Given the description of an element on the screen output the (x, y) to click on. 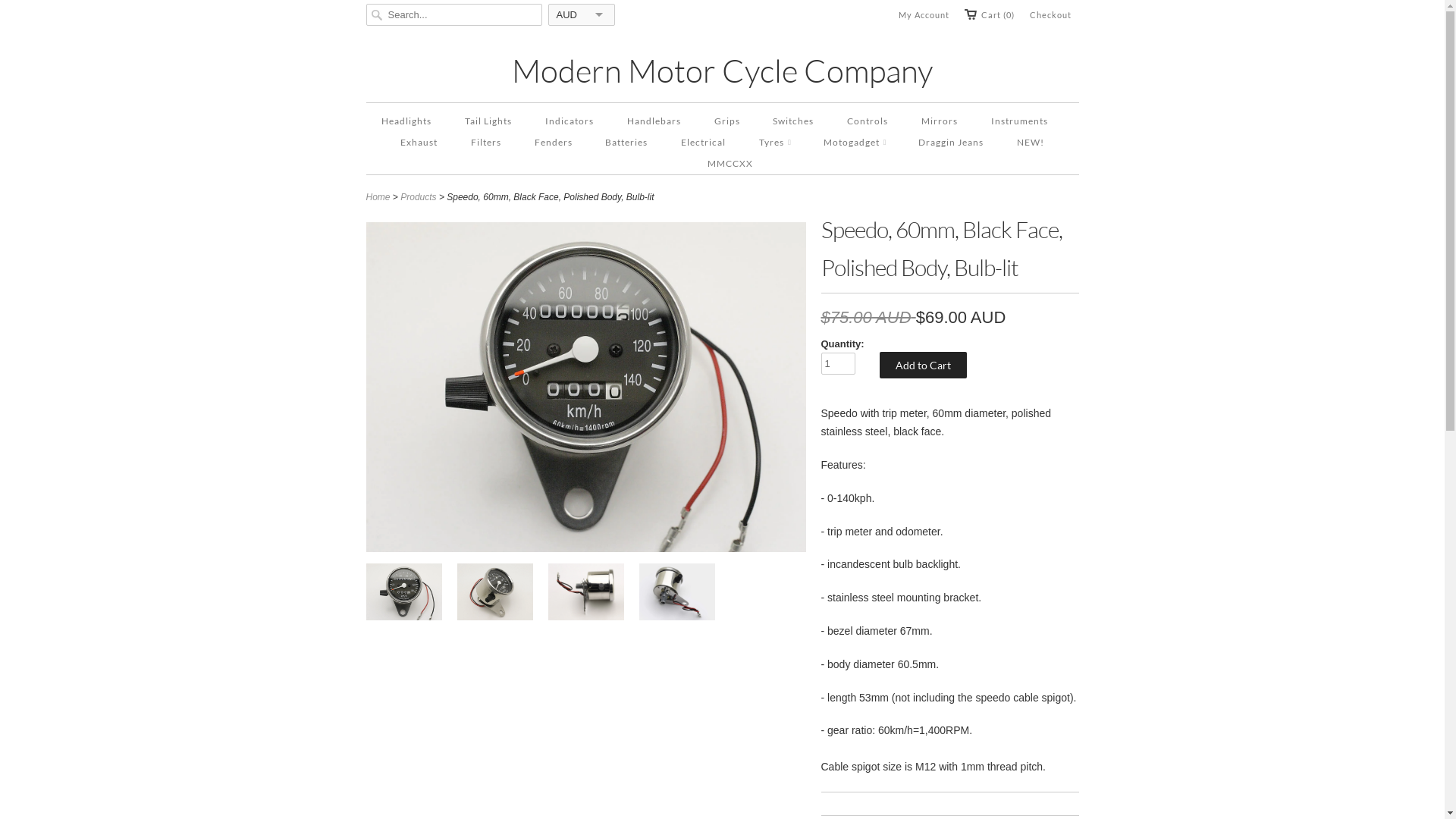
Tail Lights Element type: text (487, 120)
Add to Cart Element type: text (922, 364)
Cart (0) Element type: text (989, 14)
Batteries Element type: text (626, 142)
Exhaust Element type: text (418, 142)
Switches Element type: text (792, 120)
Electrical Element type: text (702, 142)
Speedo, 60mm, Black Face, Polished Body, Bulb-lit Element type: hover (494, 594)
MMCCXX Element type: text (729, 163)
Speedo, 60mm, Black Face, Polished Body, Bulb-lit Element type: hover (585, 548)
Checkout Element type: text (1050, 14)
My Account Element type: text (922, 14)
Speedo, 60mm, Black Face, Polished Body, Bulb-lit Element type: hover (585, 594)
Controls Element type: text (867, 120)
Products Element type: text (418, 196)
Fenders Element type: text (553, 142)
Headlights Element type: text (406, 120)
Speedo, 60mm, Black Face, Polished Body, Bulb-lit Element type: hover (403, 594)
Mirrors Element type: text (939, 120)
Instruments Element type: text (1019, 120)
Draggin Jeans Element type: text (950, 142)
Indicators Element type: text (569, 120)
Filters Element type: text (485, 142)
Grips Element type: text (727, 120)
Handlebars Element type: text (653, 120)
NEW! Element type: text (1030, 142)
Home Element type: text (377, 196)
Speedo, 60mm, Black Face, Polished Body, Bulb-lit Element type: hover (676, 594)
Modern Motor Cycle Company Element type: text (721, 70)
